Given the description of an element on the screen output the (x, y) to click on. 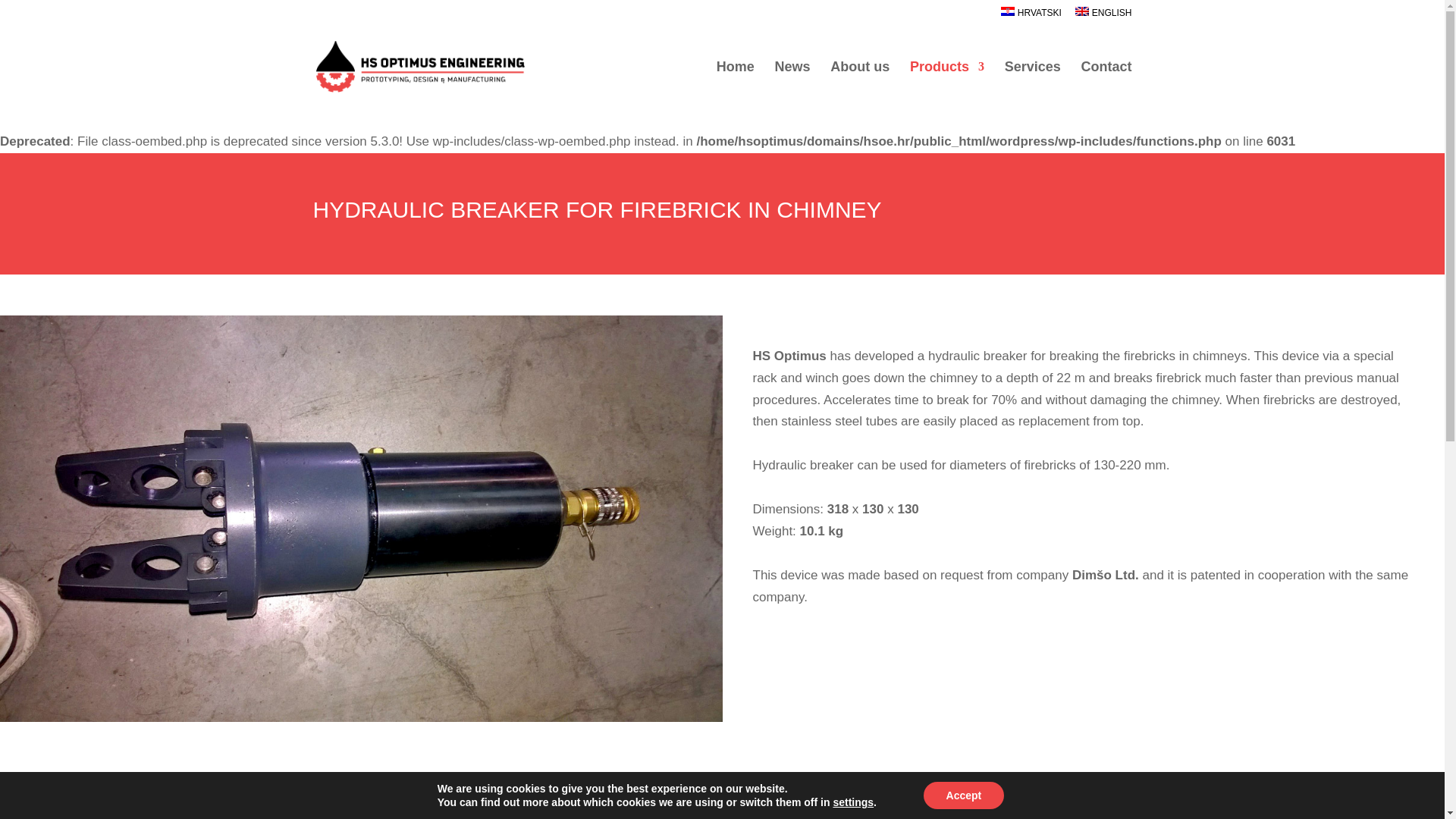
Accept (963, 795)
Products (947, 77)
ENGLISH (1103, 15)
News (791, 77)
Hrvatski (1031, 15)
HRVATSKI (1031, 15)
Services (1032, 77)
Home (735, 77)
About us (859, 77)
RAZBIJAC DIMANJAKA (505, 800)
WP 20150529 001 (937, 800)
Contact (1106, 77)
English (1103, 15)
